Given the description of an element on the screen output the (x, y) to click on. 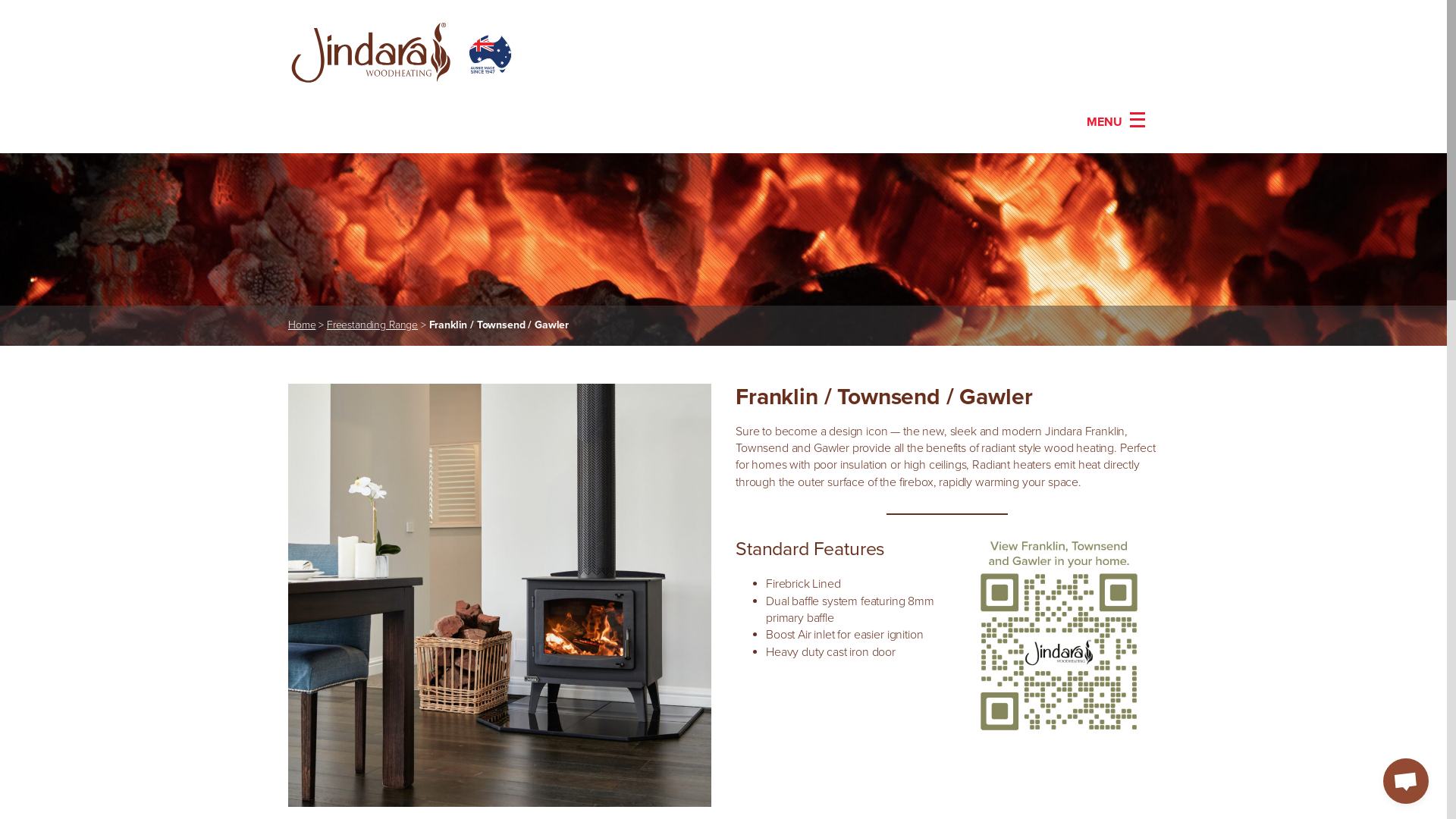
Home Element type: text (301, 324)
MENU Element type: text (1115, 120)
Go To Homepage Element type: hover (401, 55)
Freestanding Range Element type: text (371, 324)
